Given the description of an element on the screen output the (x, y) to click on. 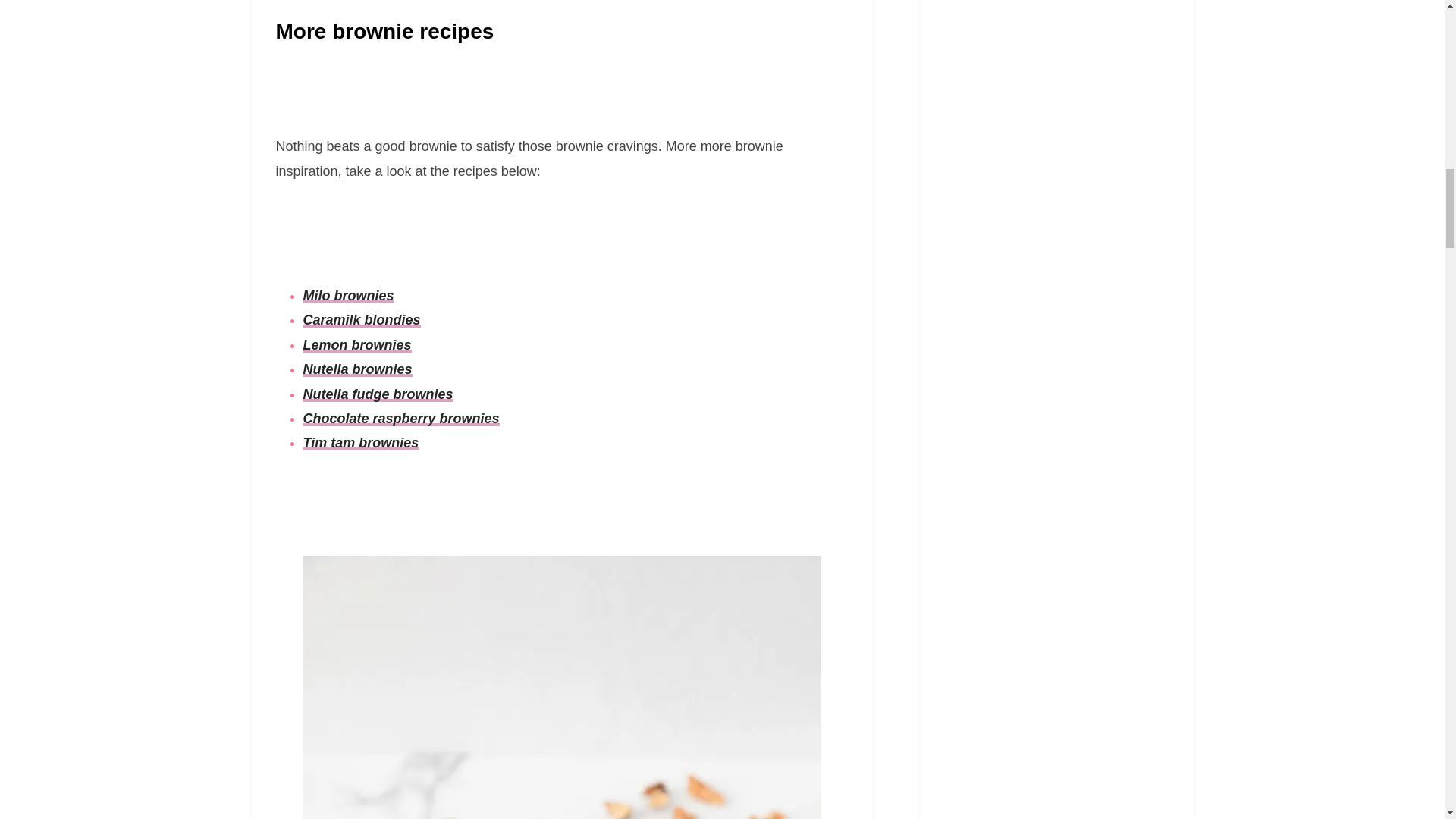
Milo brownies (348, 295)
Nutella brownies (357, 368)
Lemon brownies (357, 344)
Caramilk blondies (361, 319)
